Given the description of an element on the screen output the (x, y) to click on. 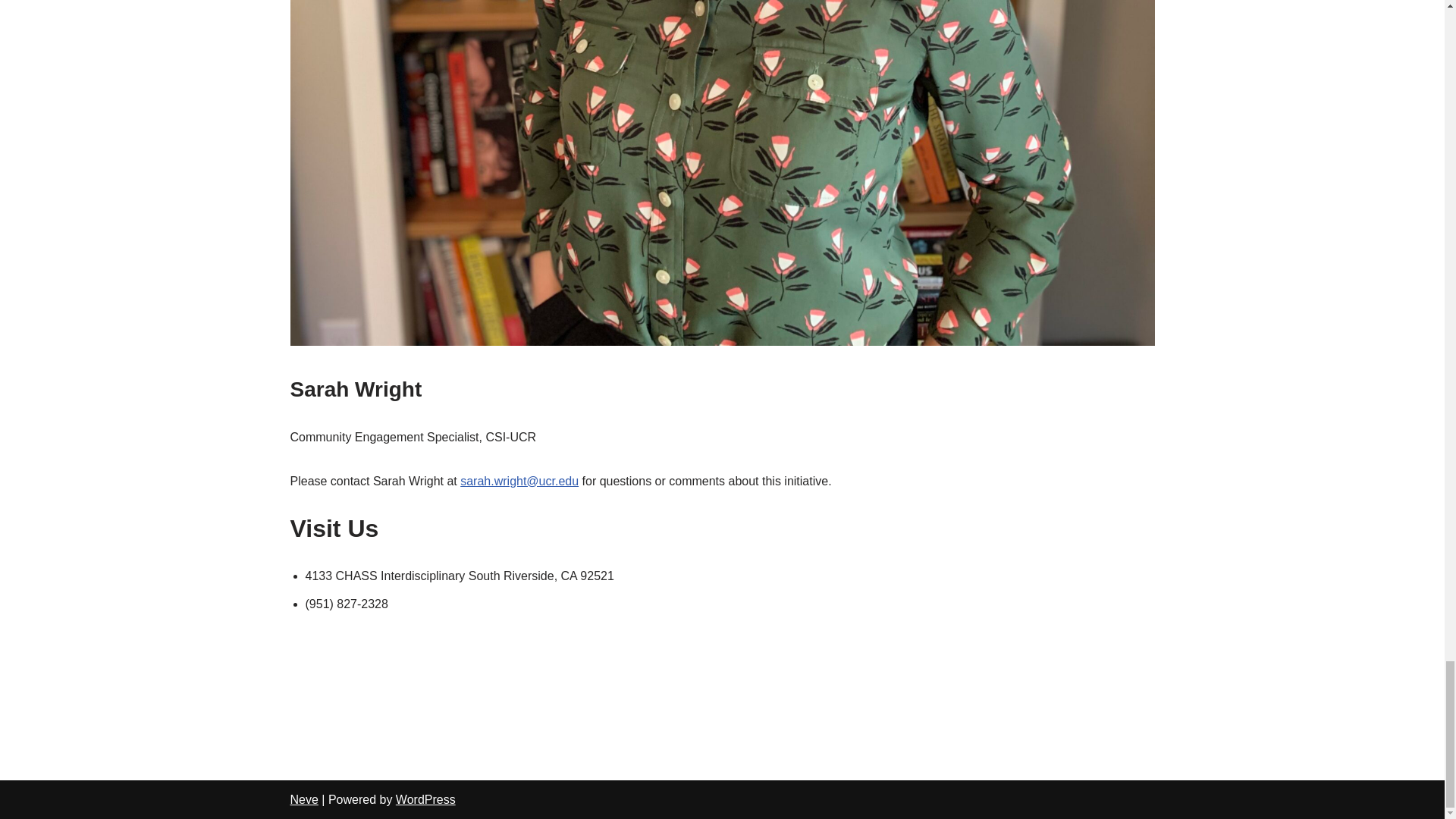
CHASS Interdisciplinary South (402, 694)
WordPress (425, 799)
Neve (303, 799)
